Given the description of an element on the screen output the (x, y) to click on. 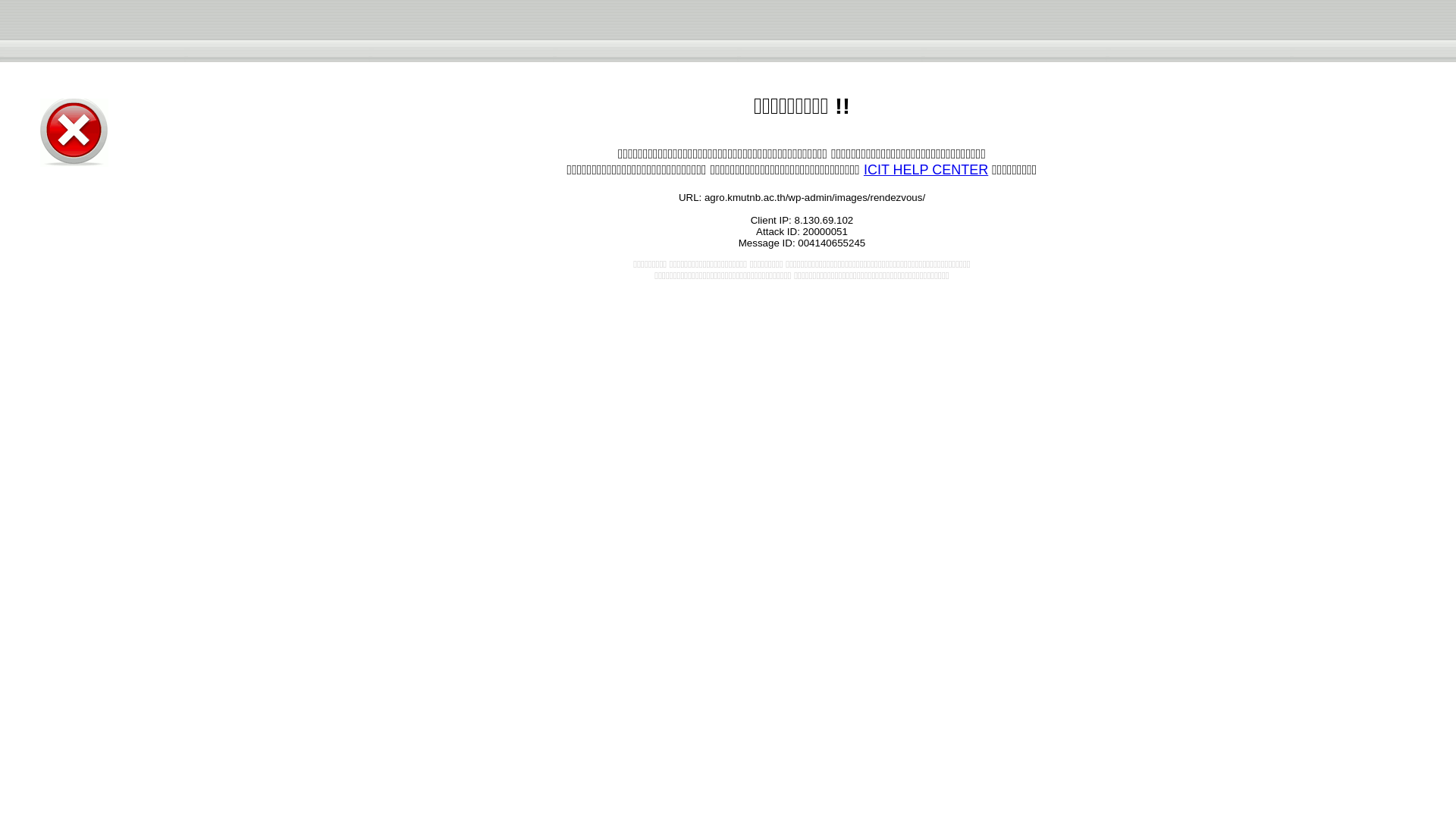
ICIT HELP CENTER (925, 169)
